Given the description of an element on the screen output the (x, y) to click on. 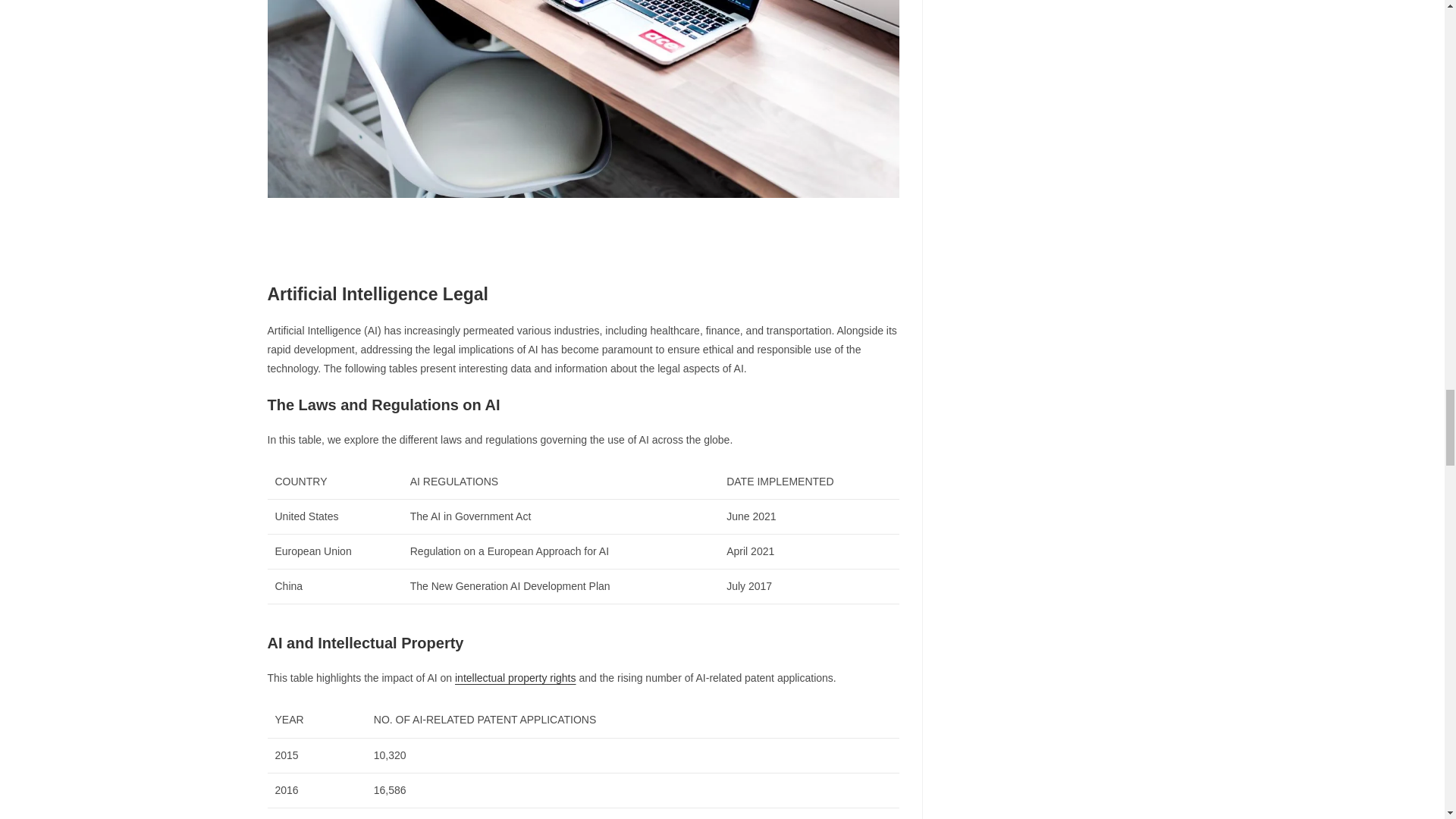
Artificial Intelligence Legal. (582, 99)
intellectual property rights (515, 677)
